Given the description of an element on the screen output the (x, y) to click on. 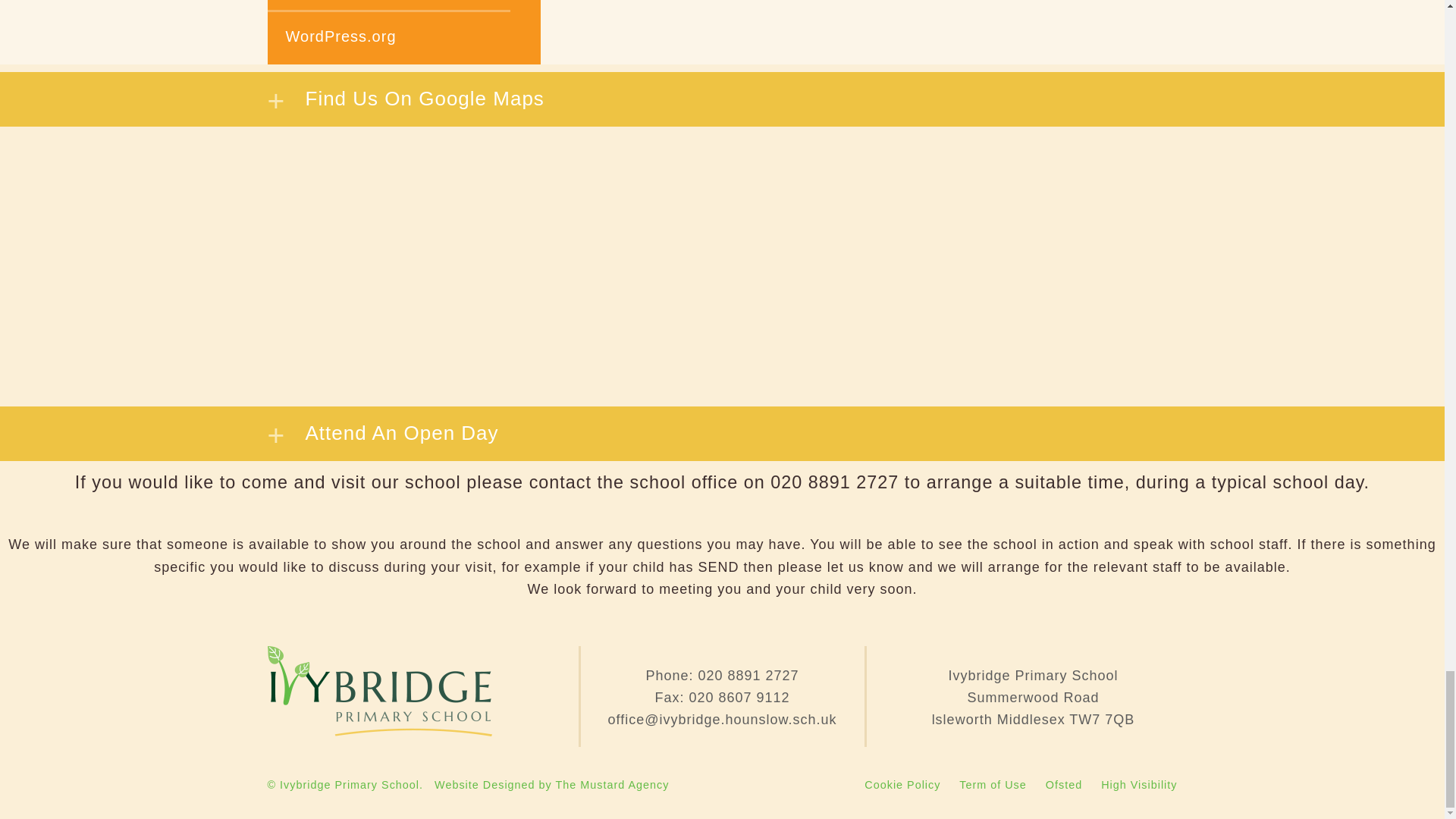
Ofsted Ivybridge Primary School, Isleworth, Middlesex UK (1063, 784)
School Website design by The Mustard Agency UK (550, 784)
